Given the description of an element on the screen output the (x, y) to click on. 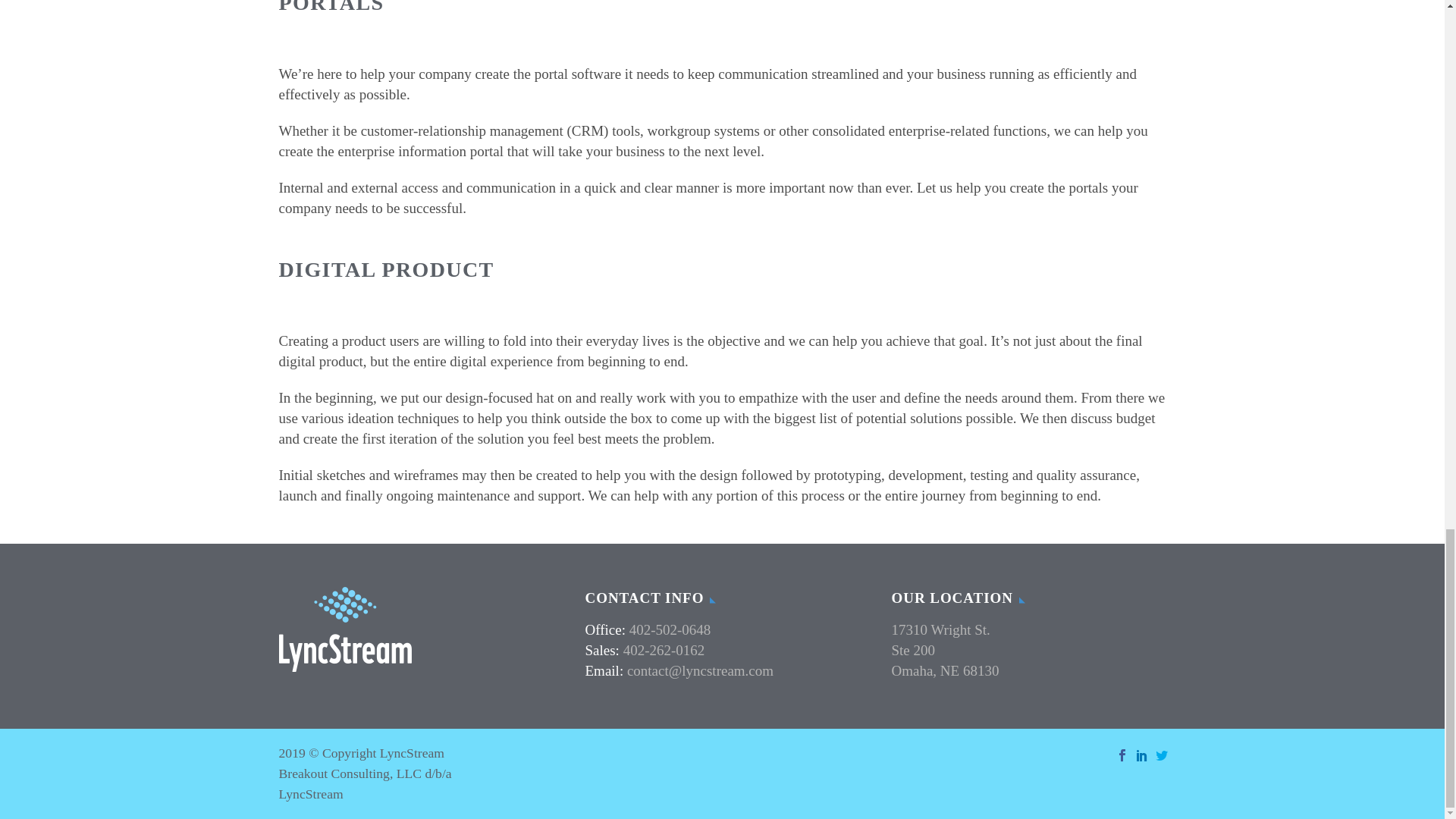
twitter (1161, 755)
linkedin (1141, 755)
402-502-0648 (669, 629)
402-262-0162 (663, 650)
facebook (1122, 755)
